Given the description of an element on the screen output the (x, y) to click on. 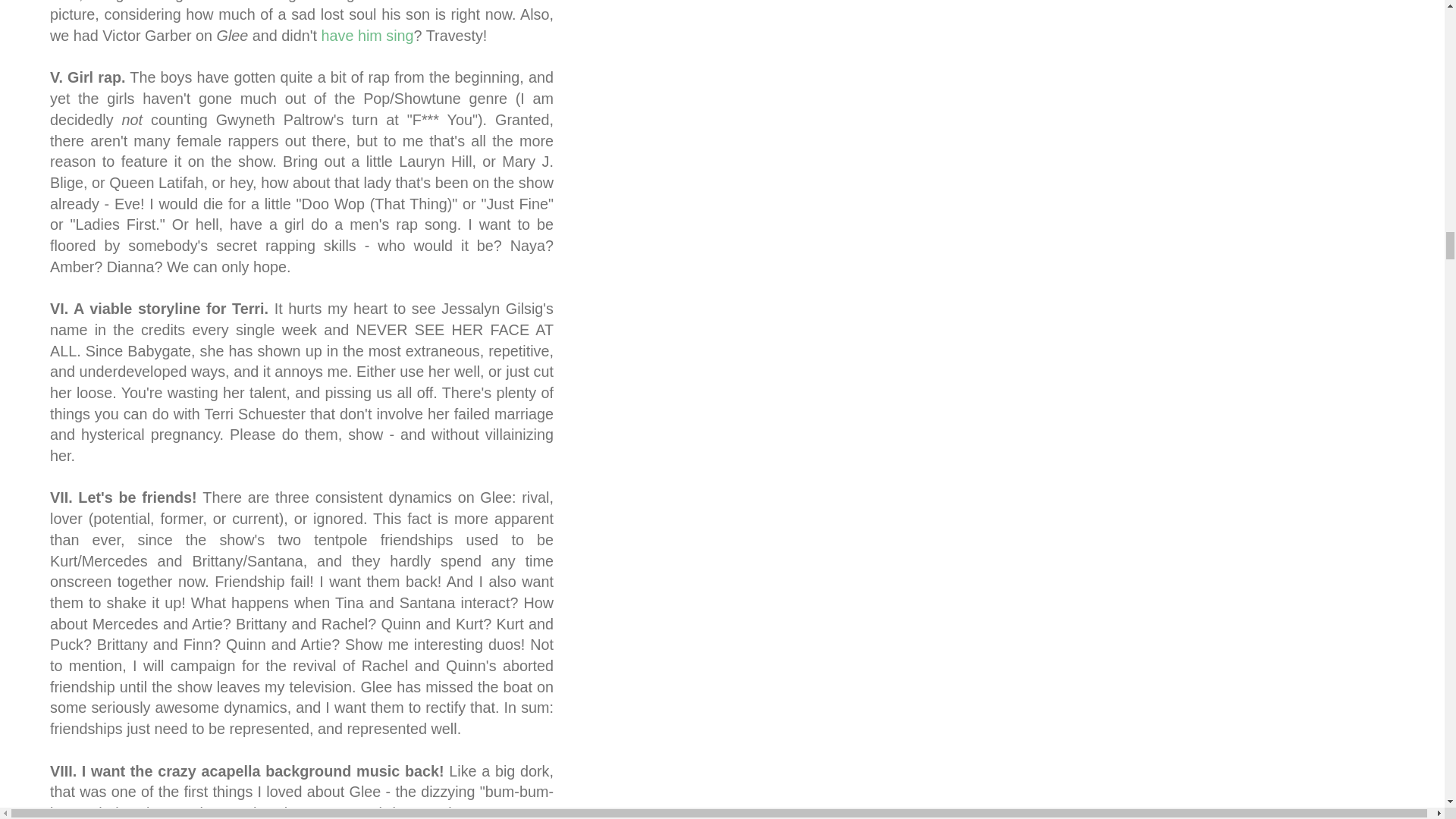
have him sing (367, 35)
